Given the description of an element on the screen output the (x, y) to click on. 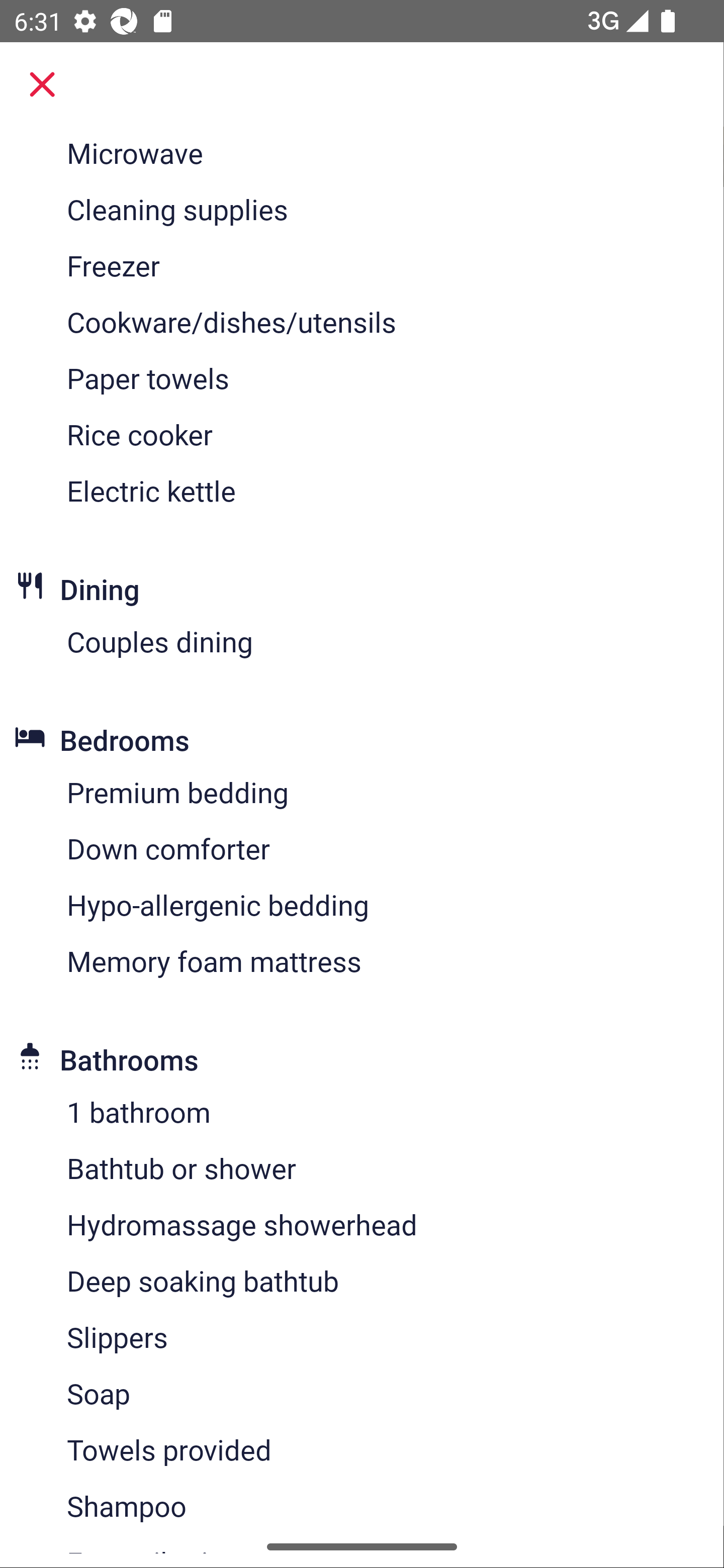
Close (42, 84)
